Given the description of an element on the screen output the (x, y) to click on. 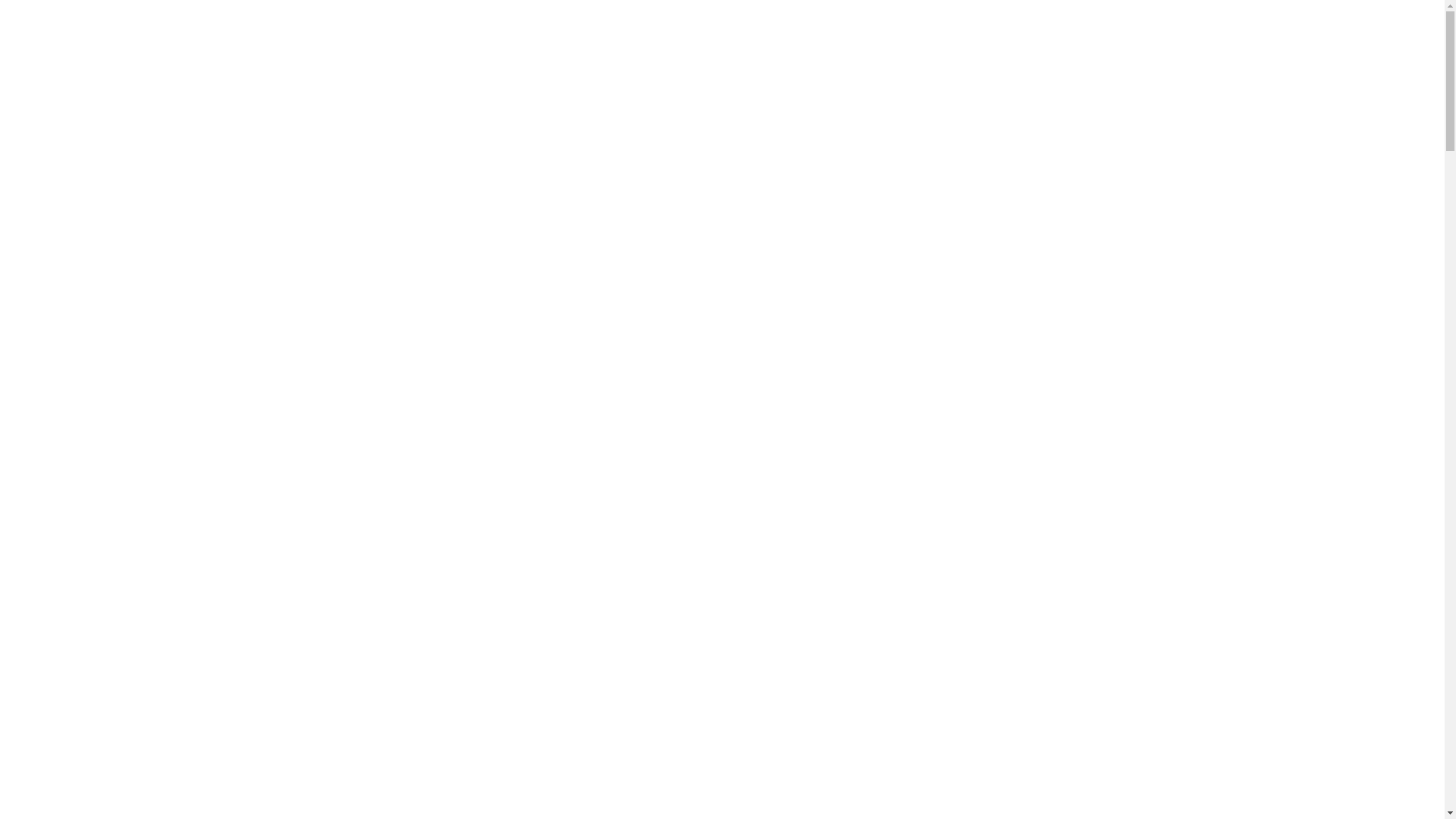
Suchen Element type: text (1137, 27)
BRANCHEN Element type: text (378, 76)
JOBS Element type: text (846, 28)
PARTNER Element type: text (629, 76)
BLOG Element type: text (793, 28)
KONTAKT Element type: text (911, 28)
PRODUKTE Element type: text (278, 76)
UNTERNEHMEN Element type: text (735, 76)
DIGITALISIERUNG Element type: text (506, 76)
